Given the description of an element on the screen output the (x, y) to click on. 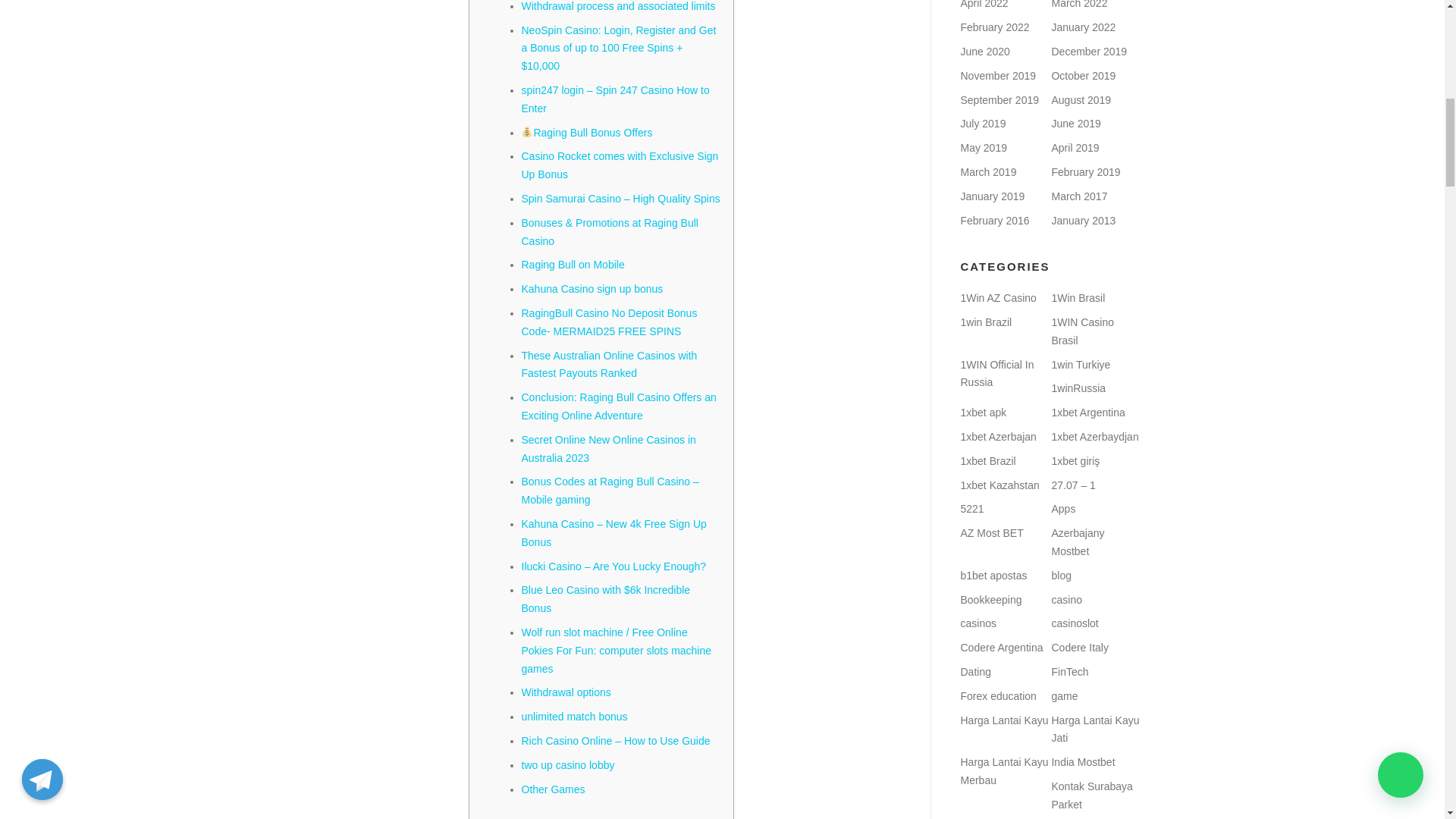
Kahuna Casino sign up bonus (592, 288)
Secret Online New Online Casinos in Australia 2023 (608, 449)
Raging Bull on Mobile (572, 264)
These Australian Online Casinos with Fastest Payouts Ranked (609, 364)
Withdrawal process and associated limits (618, 6)
Casino Rocket comes with Exclusive Sign Up Bonus (620, 164)
Raging Bull Bonus Offers (586, 132)
